Given the description of an element on the screen output the (x, y) to click on. 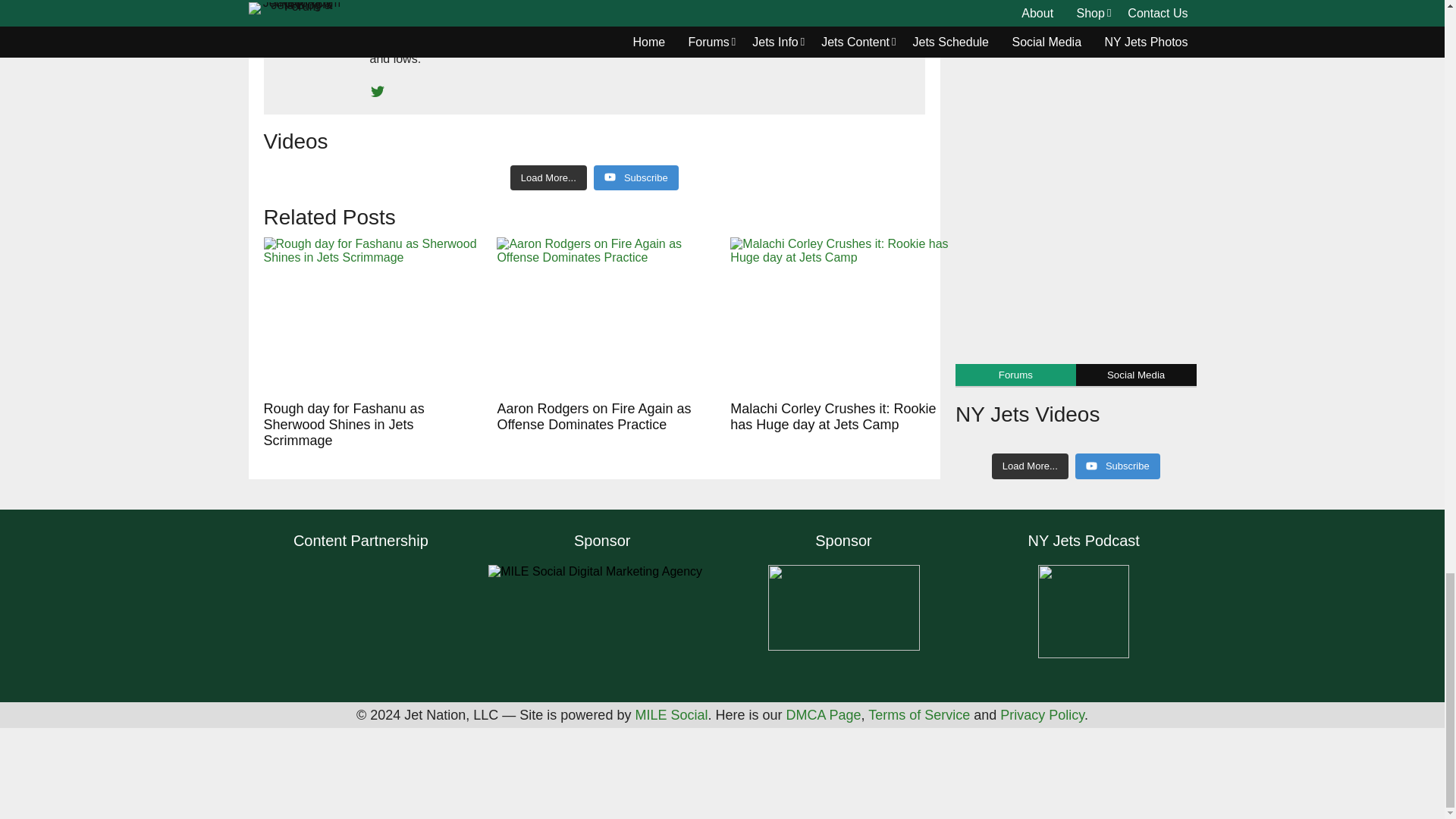
Aaron Rodgers on Fire Again as Offense Dominates Practice (605, 315)
Malachi Corley Crushes it: Rookie has Huge day at Jets Camp (839, 315)
Rough day for Fashanu as Sherwood Shines in Jets Scrimmage (372, 315)
